Given the description of an element on the screen output the (x, y) to click on. 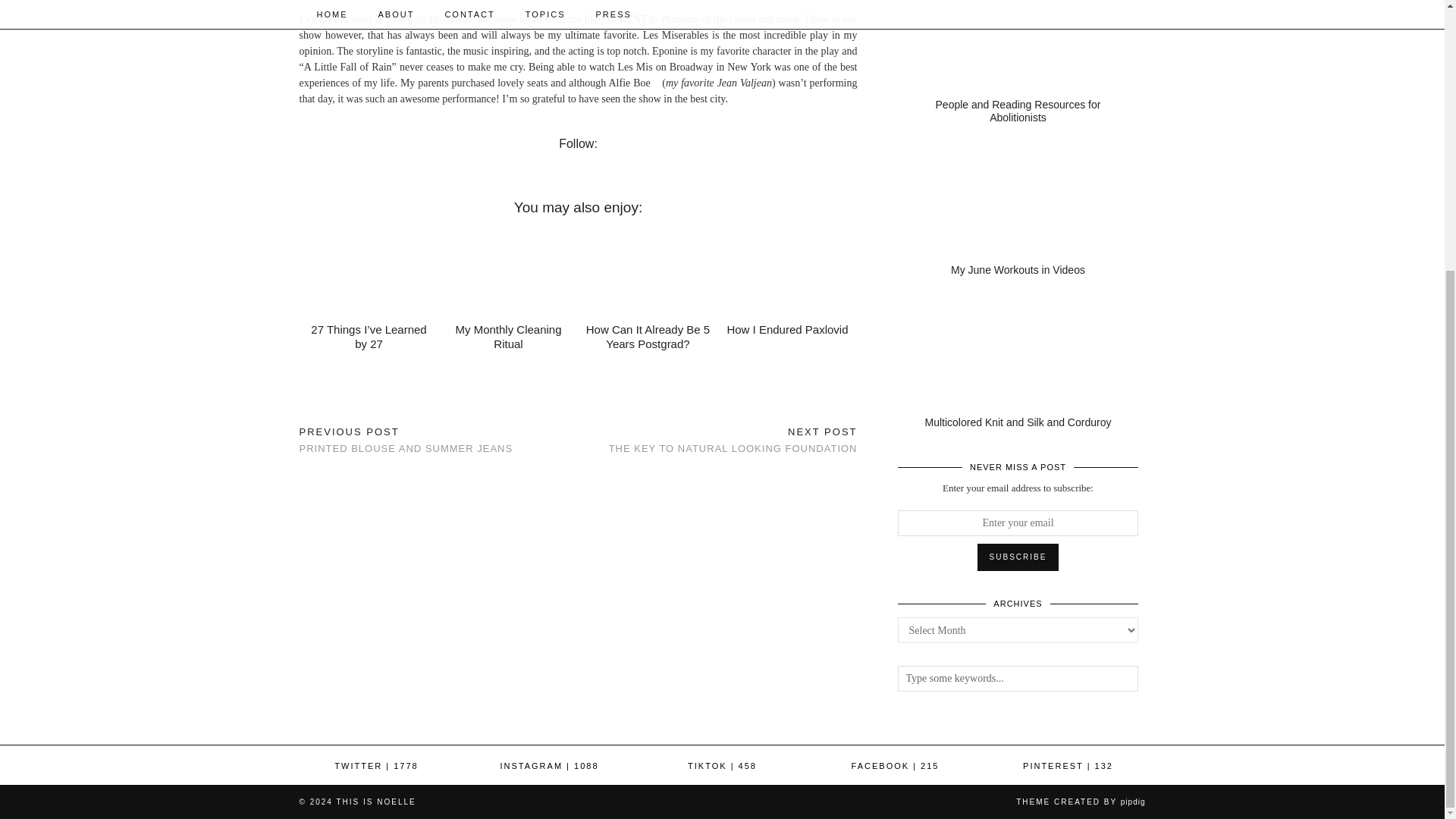
Subscribe (1017, 556)
My Monthly Cleaning Ritual (507, 336)
How Can It Already Be 5 Years Postgrad? (648, 336)
How I Endured Paxlovid (786, 328)
